Given the description of an element on the screen output the (x, y) to click on. 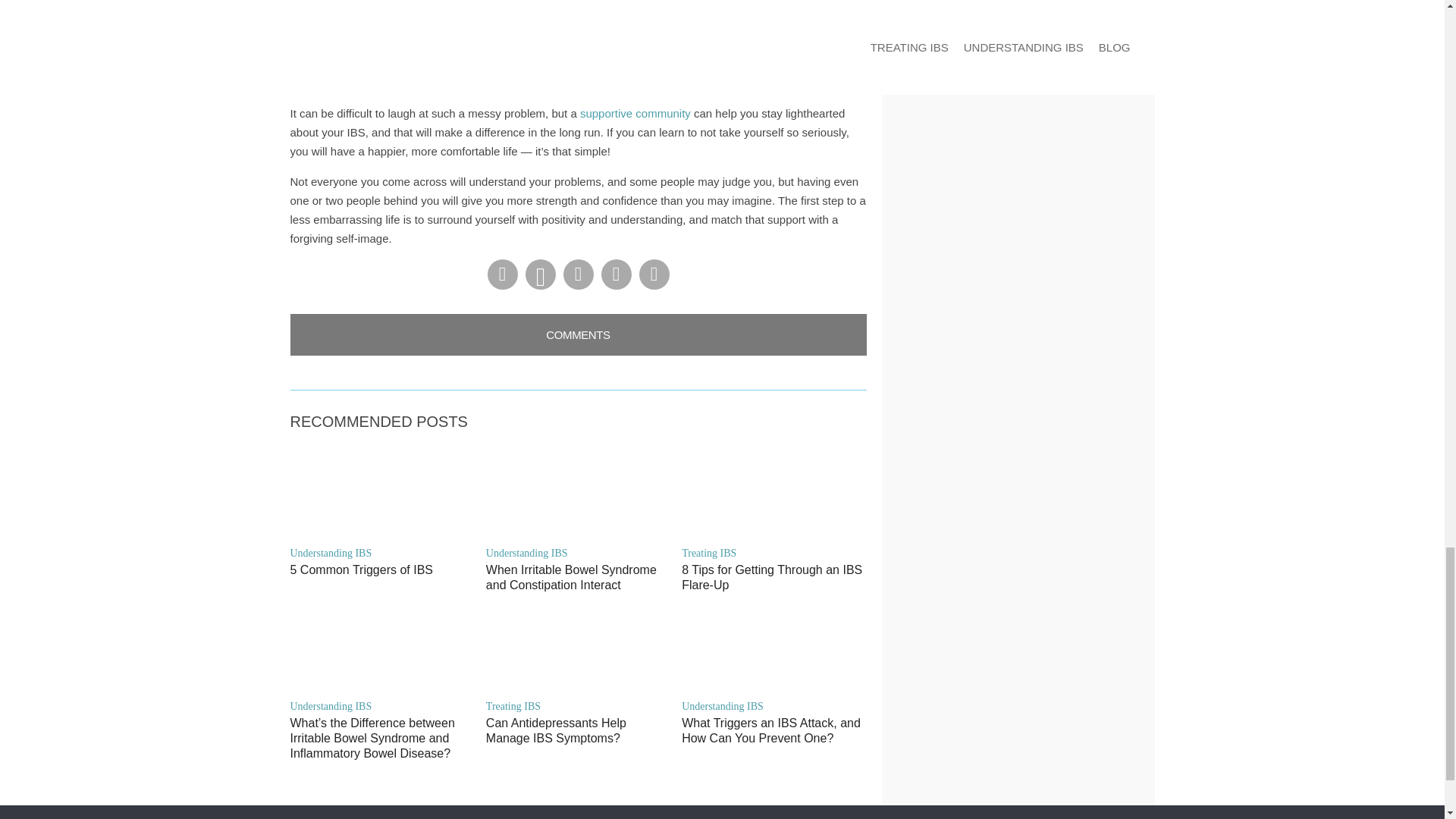
Twitter (614, 274)
Messenger (577, 274)
Treating IBS (773, 552)
Understanding IBS (577, 552)
COMMENTS (577, 334)
5 Common Triggers of IBS (381, 570)
Email (653, 274)
When Irritable Bowel Syndrome and Constipation Interact (577, 577)
Understanding IBS (381, 552)
supportive community (634, 113)
Pinterest (539, 274)
Understanding IBS (381, 706)
8 Tips for Getting Through an IBS Flare-Up (773, 577)
Facebook (501, 274)
